Given the description of an element on the screen output the (x, y) to click on. 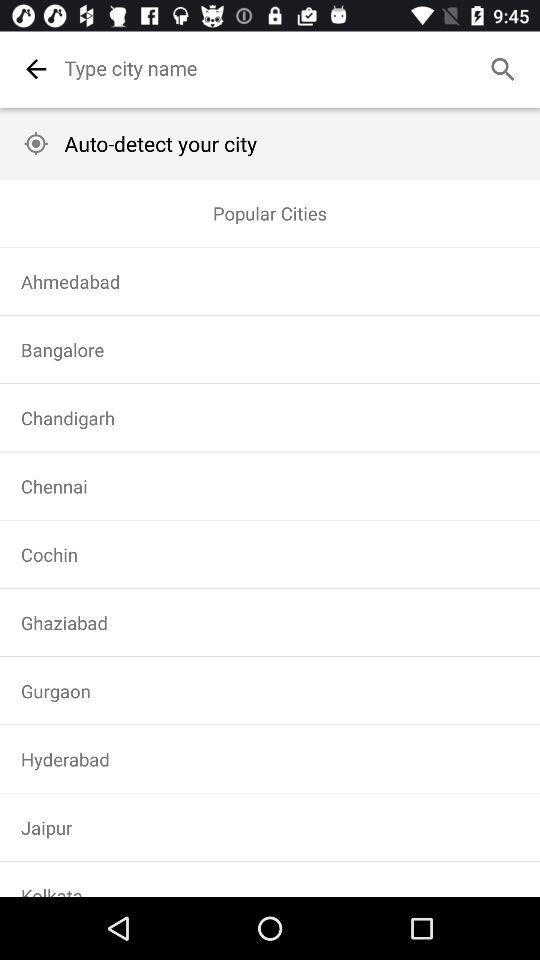
enter city name (295, 67)
